Given the description of an element on the screen output the (x, y) to click on. 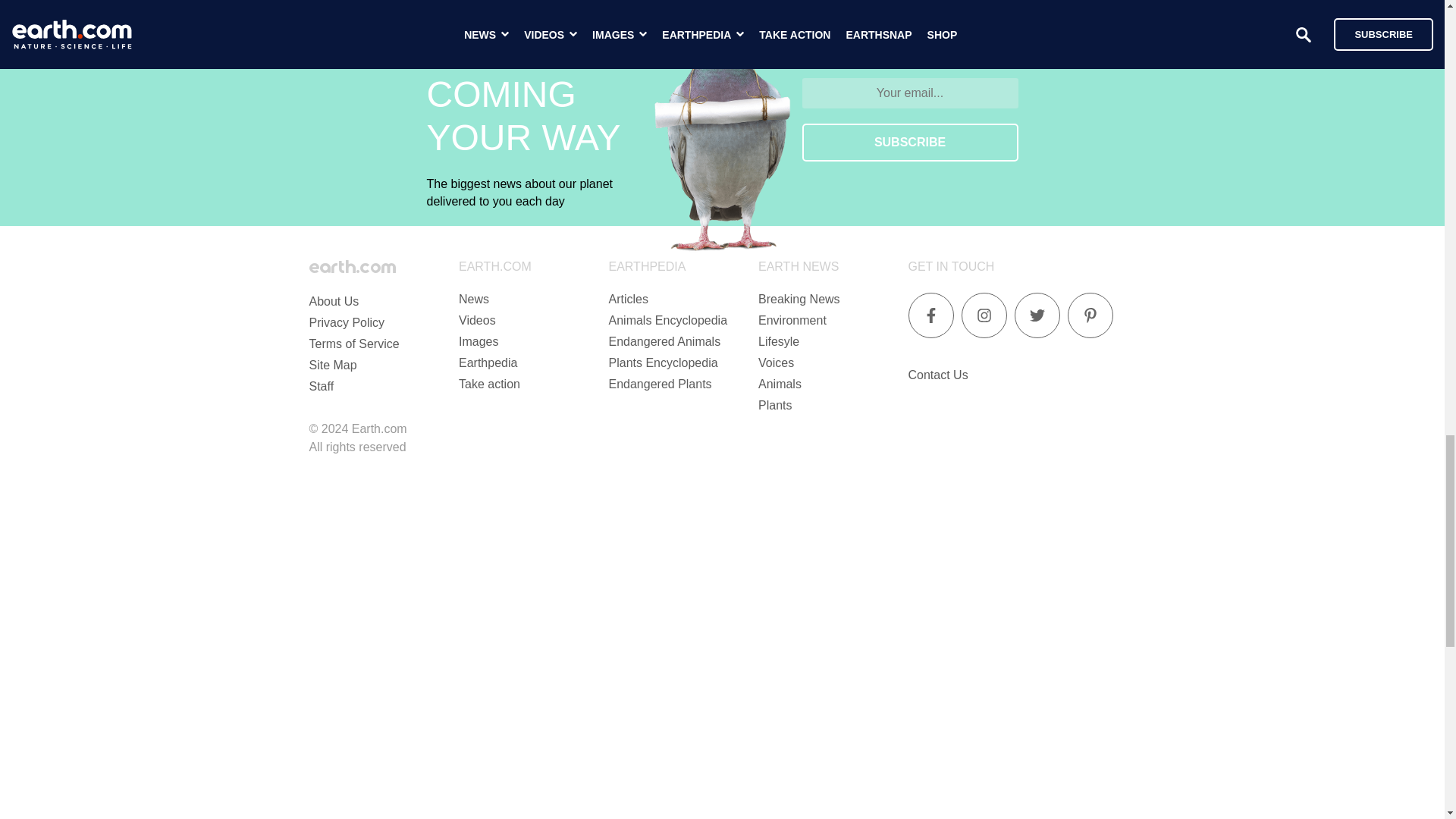
Earthpedia (487, 362)
News (473, 298)
About Us (333, 300)
Videos (477, 319)
Site Map (332, 364)
Terms of Service (353, 343)
Privacy Policy (346, 322)
Images (477, 341)
Staff (321, 386)
SUBSCRIBE (909, 142)
Take action (488, 383)
